Given the description of an element on the screen output the (x, y) to click on. 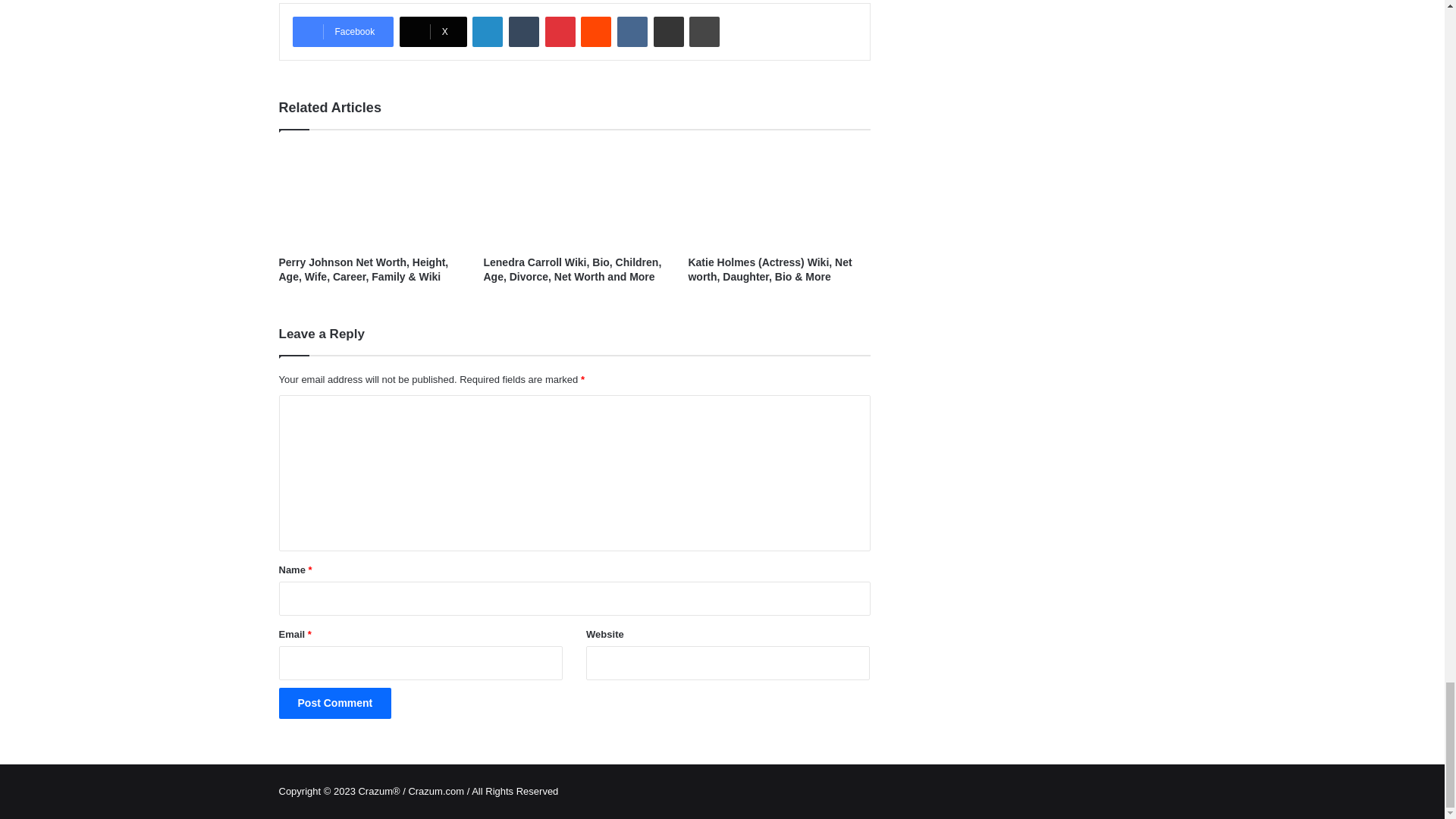
Facebook (343, 31)
Post Comment (335, 703)
LinkedIn (486, 31)
Tumblr (523, 31)
Share via Email (668, 31)
Reddit (595, 31)
VKontakte (632, 31)
Print (703, 31)
X (432, 31)
Pinterest (559, 31)
